Given the description of an element on the screen output the (x, y) to click on. 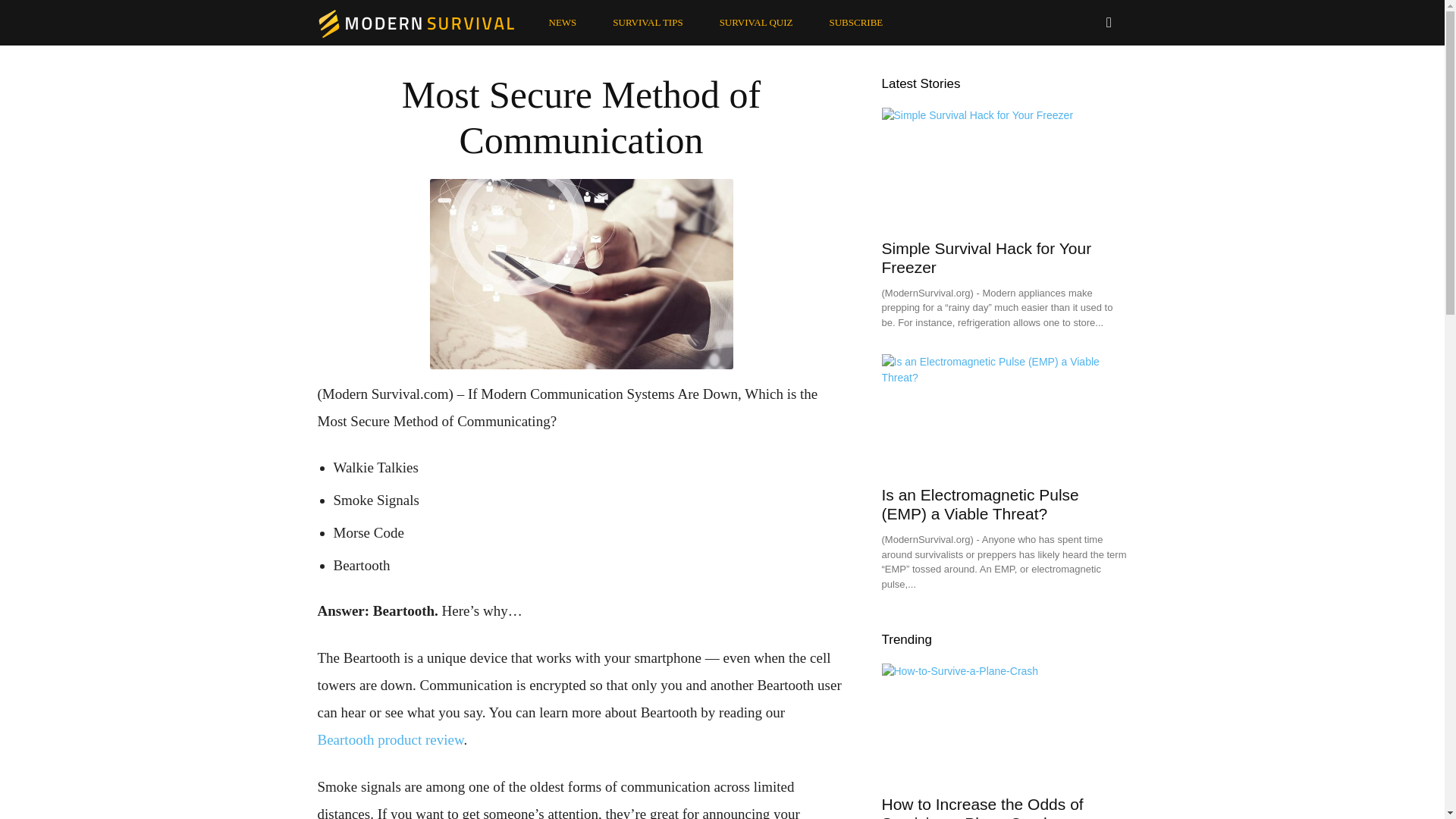
SURVIVAL QUIZ (755, 22)
SUBSCRIBE (855, 22)
Modern Survival (416, 22)
Search (1077, 87)
SURVIVAL TIPS (647, 22)
Modern Survival (423, 22)
NEWS (563, 22)
Most-Secure-Form-of-Communication (580, 274)
Beartooth product review (390, 739)
